Given the description of an element on the screen output the (x, y) to click on. 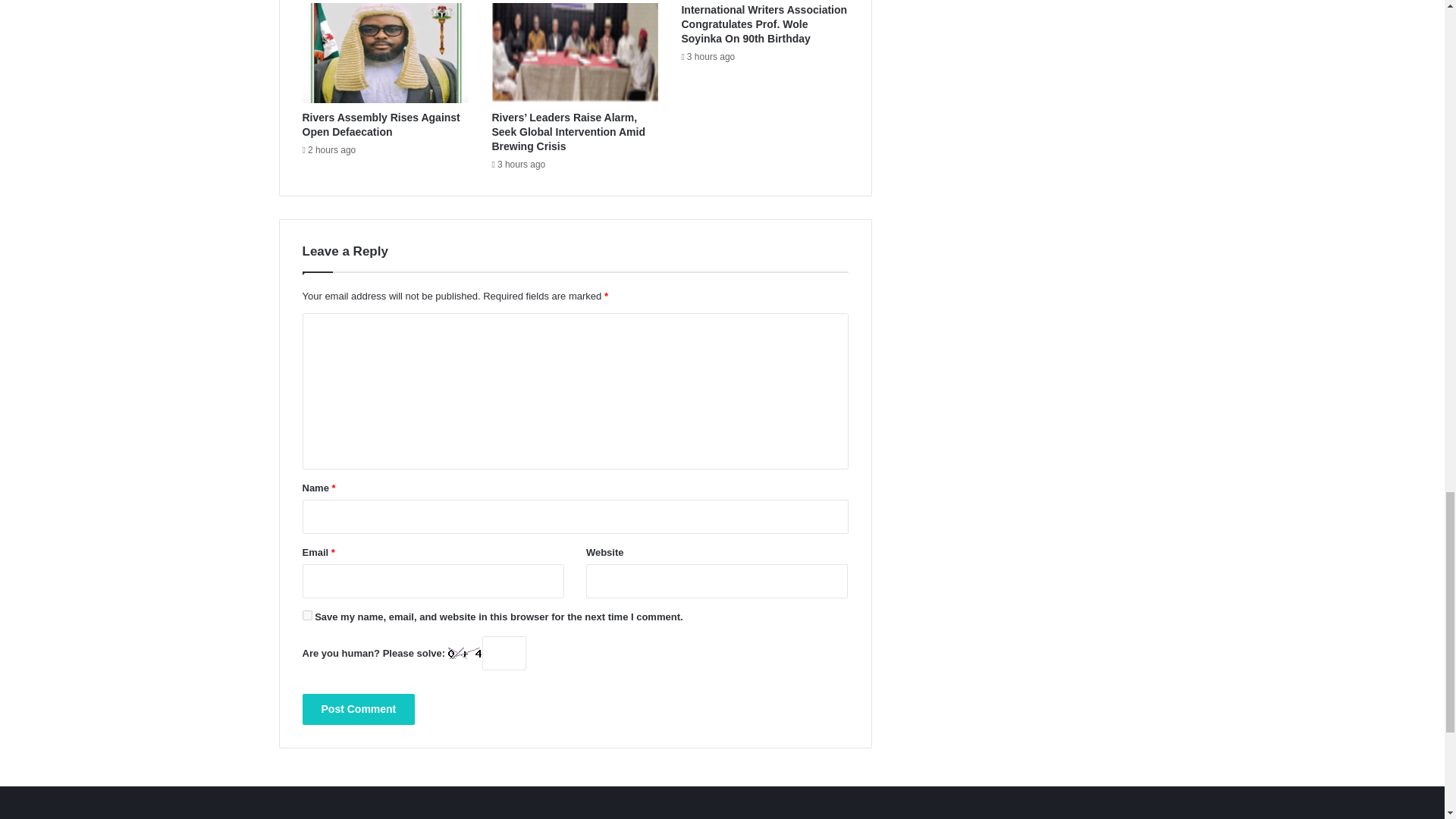
Post Comment (357, 708)
yes (306, 614)
